Given the description of an element on the screen output the (x, y) to click on. 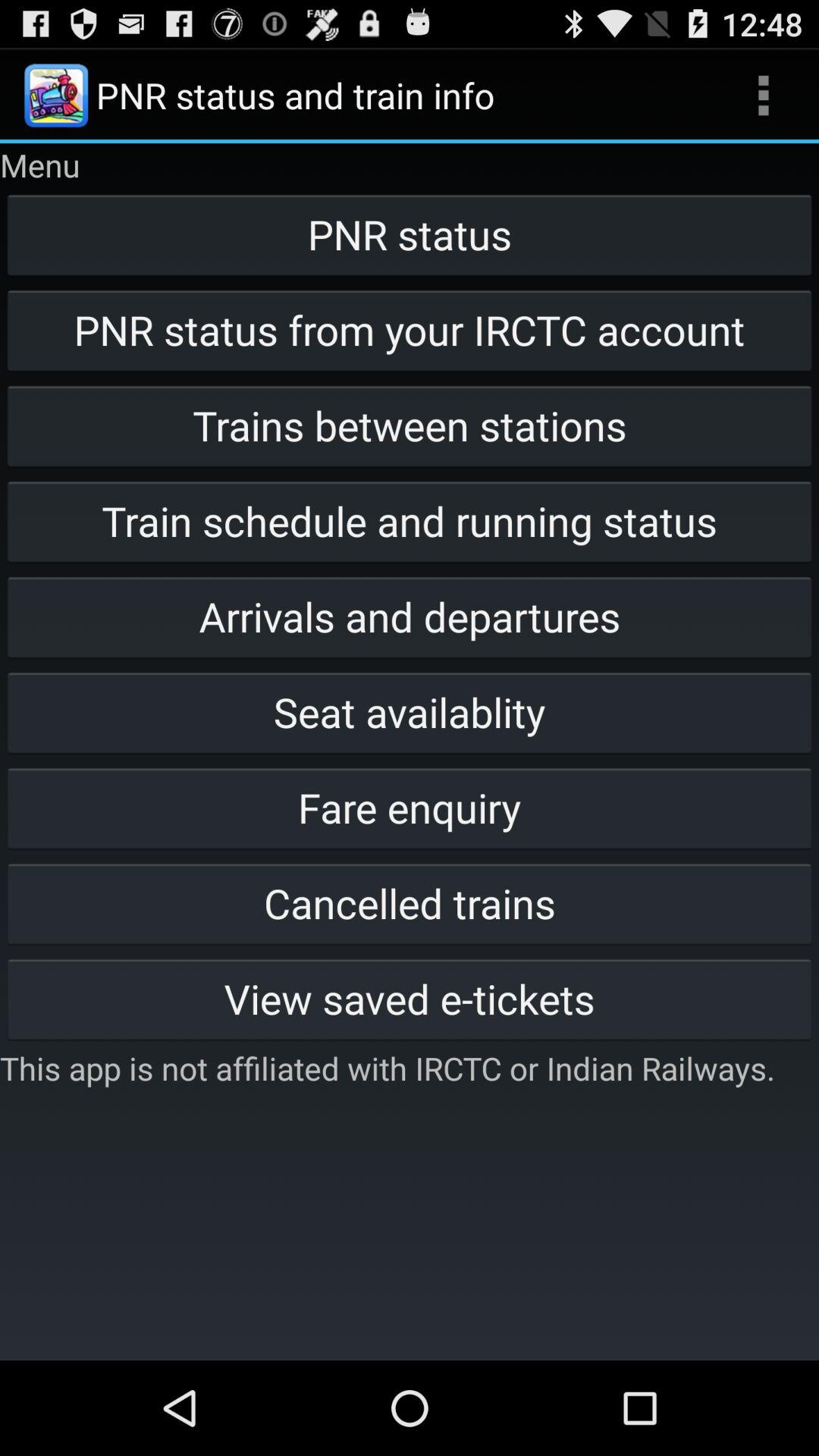
scroll until the seat availablity button (409, 711)
